Given the description of an element on the screen output the (x, y) to click on. 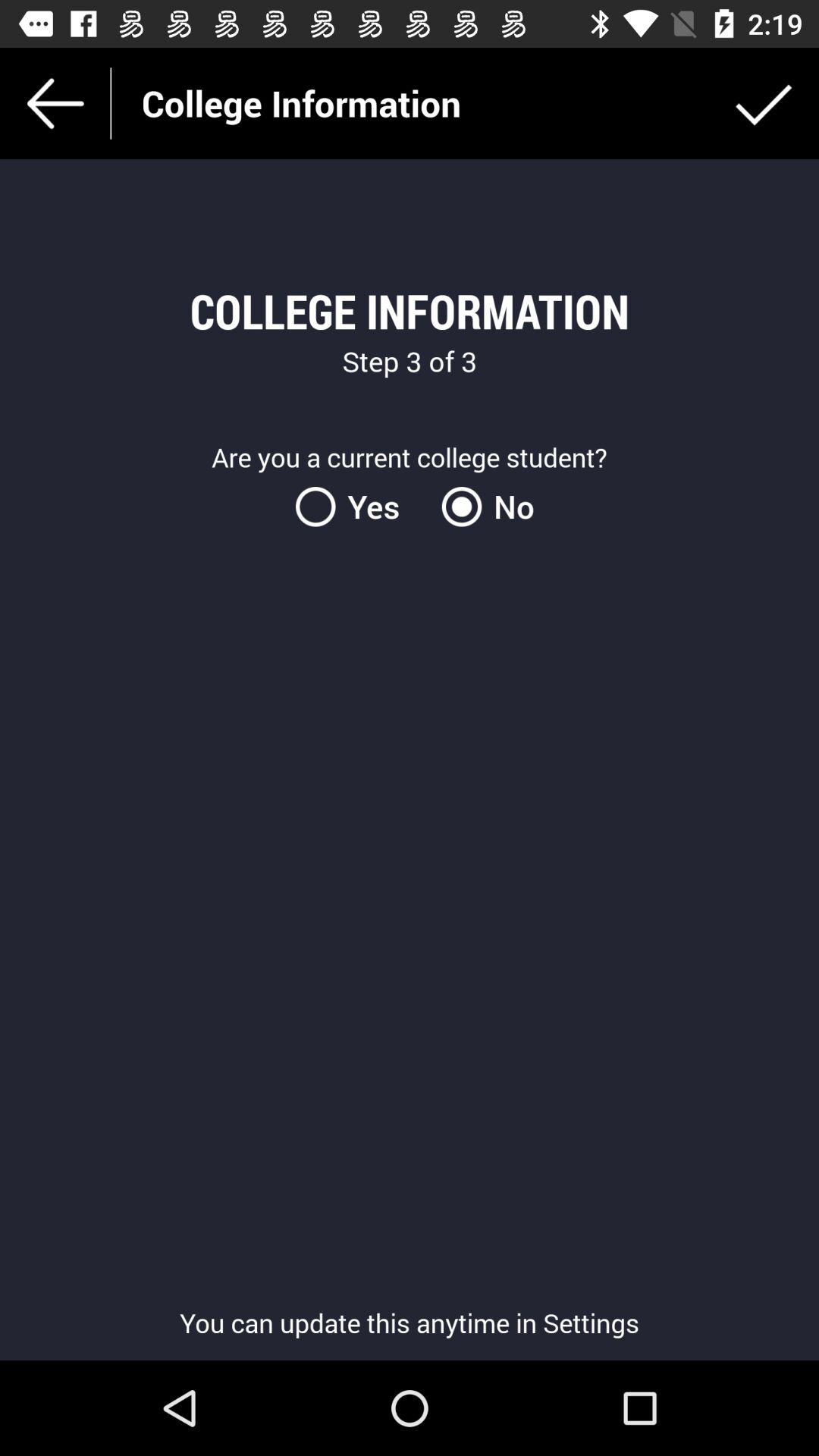
open item to the right of yes item (481, 506)
